Given the description of an element on the screen output the (x, y) to click on. 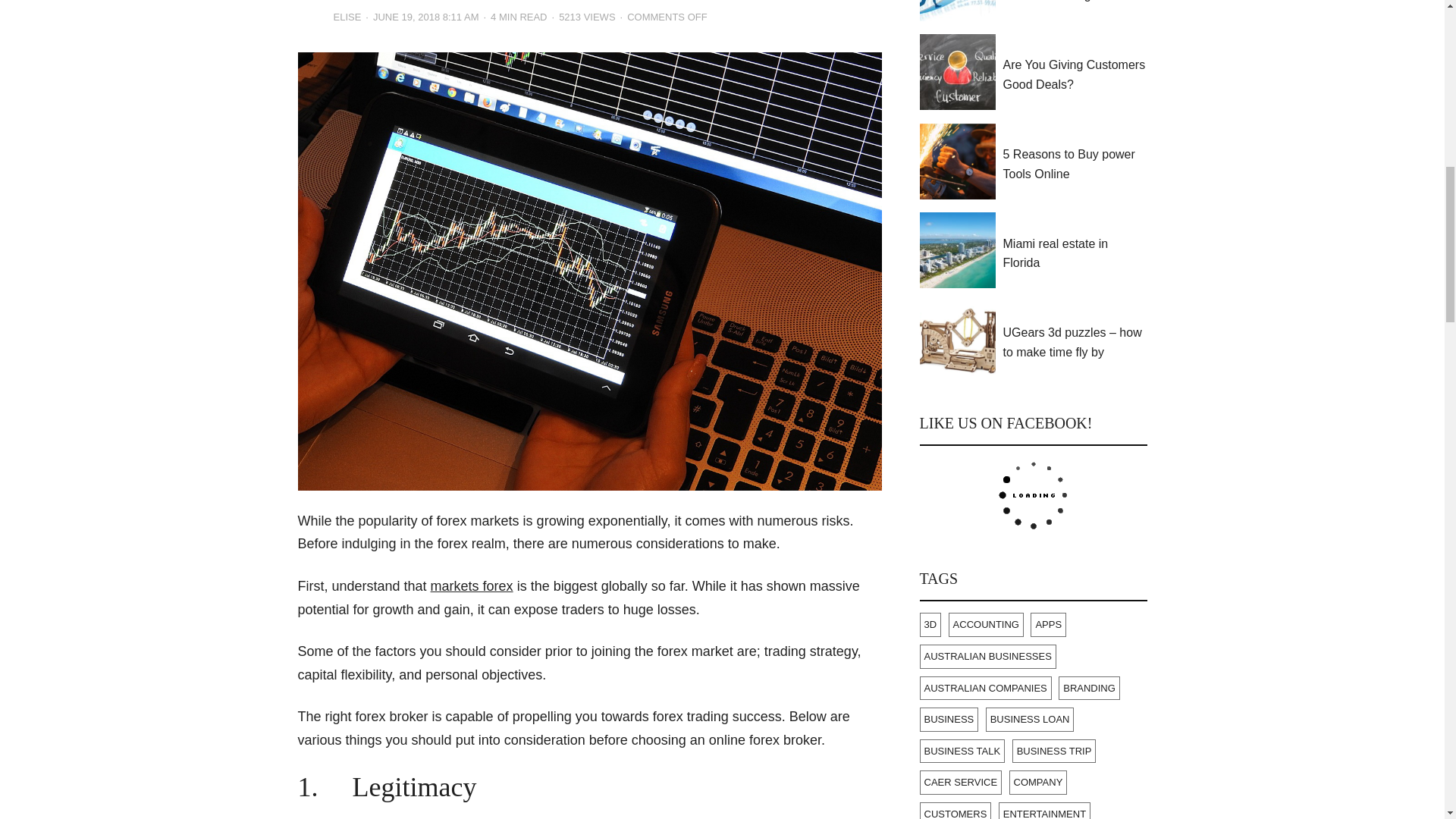
Posts by Elise (347, 17)
ACCOUNTING (986, 624)
5 Reasons to Buy power Tools Online (1075, 163)
Are You Giving Customers Good Deals? (1075, 74)
JUNE 19, 2018 8:11 AM (425, 17)
BRANDING (1088, 688)
AUSTRALIAN BUSINESSES (986, 656)
markets forex (471, 585)
AUSTRALIAN COMPANIES (984, 688)
